Given the description of an element on the screen output the (x, y) to click on. 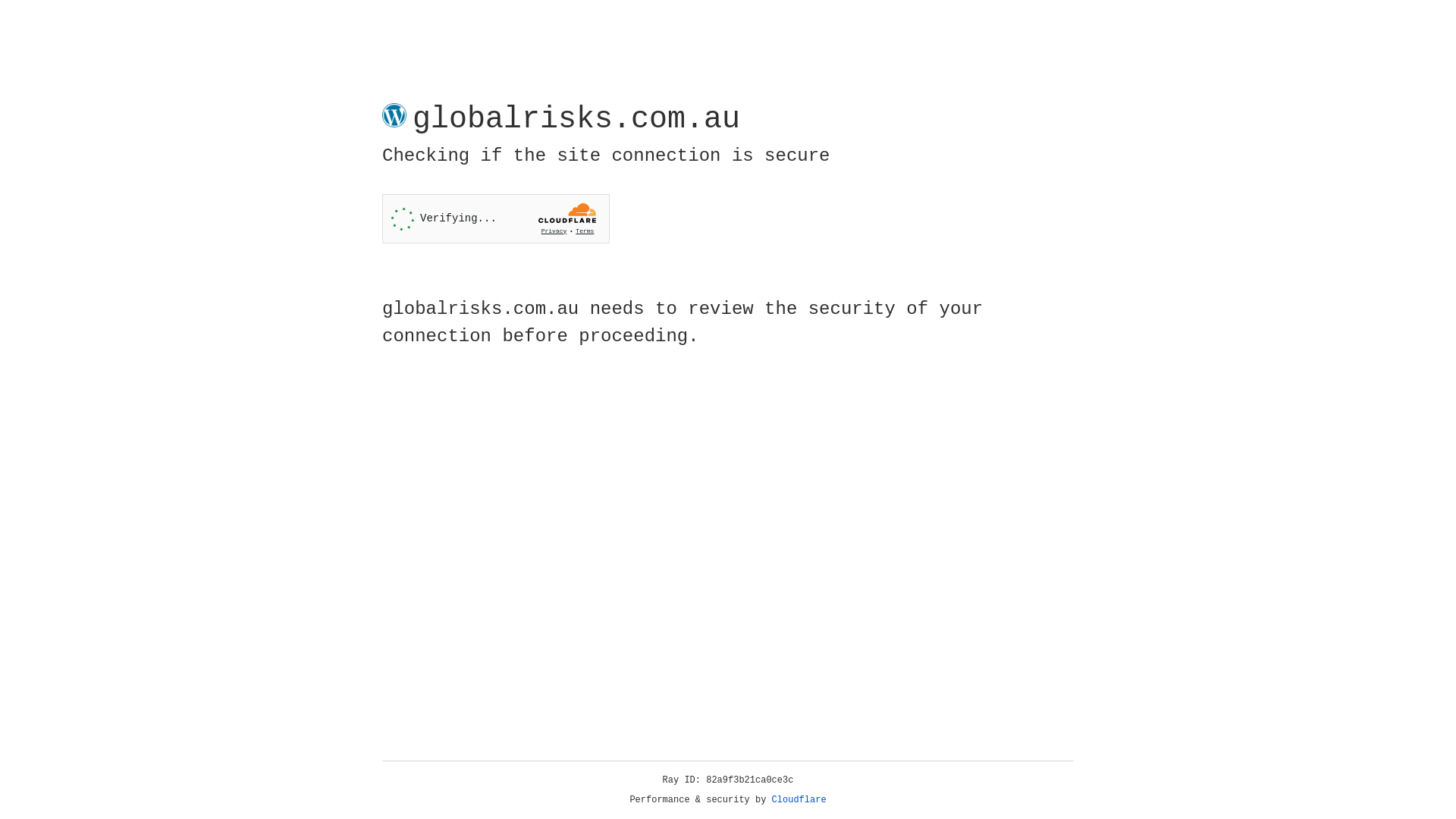
Widget containing a Cloudflare security challenge Element type: hover (495, 218)
Cloudflare Element type: text (798, 799)
